Given the description of an element on the screen output the (x, y) to click on. 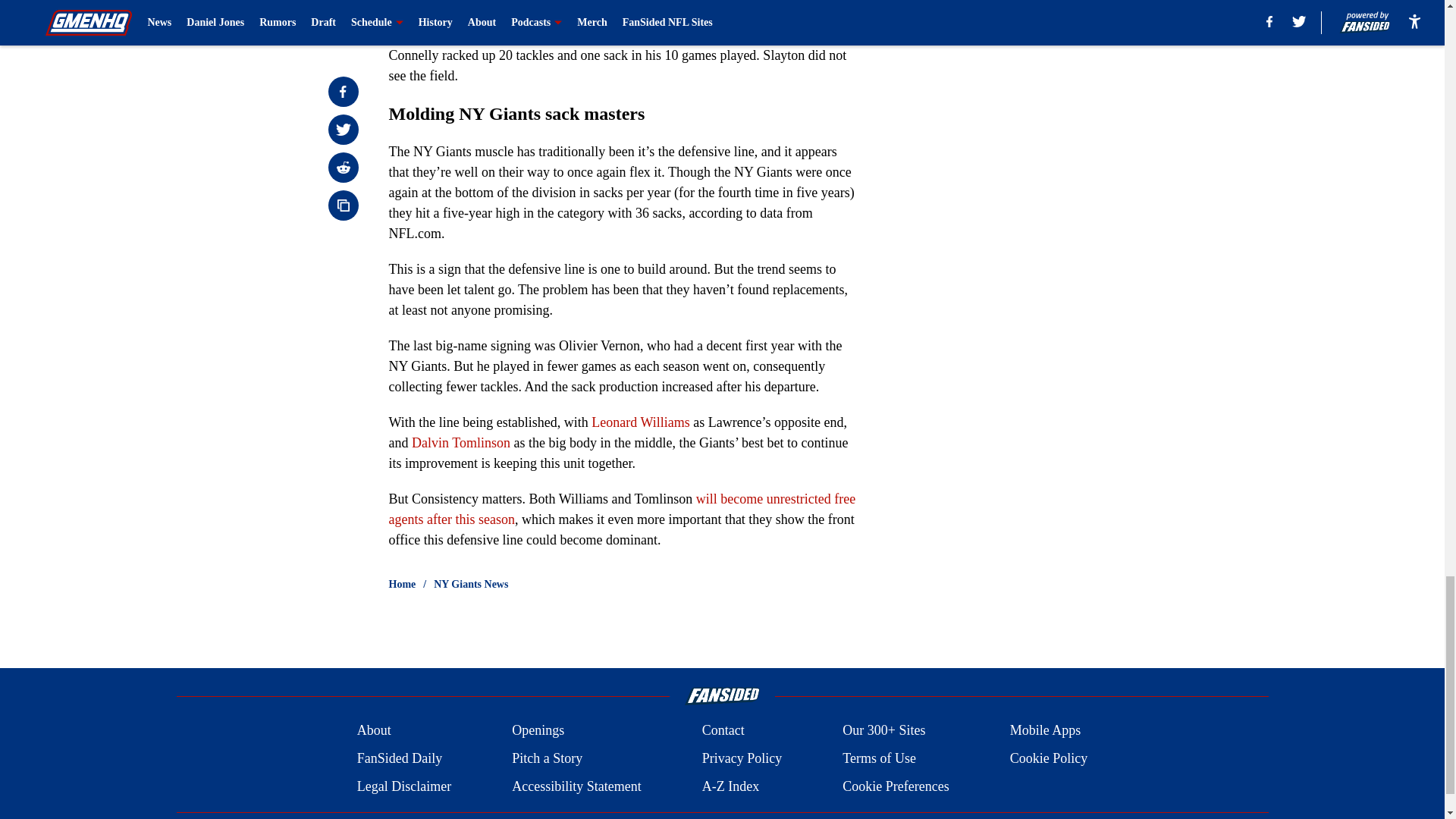
Dalvin Tomlinson (461, 442)
FanSided Daily (399, 758)
Mobile Apps (1045, 730)
will become unrestricted free agents after this season (622, 509)
Openings (538, 730)
according to ESPN.com (752, 19)
Leonard Williams (639, 421)
About (373, 730)
Contact (722, 730)
Home (401, 584)
